Given the description of an element on the screen output the (x, y) to click on. 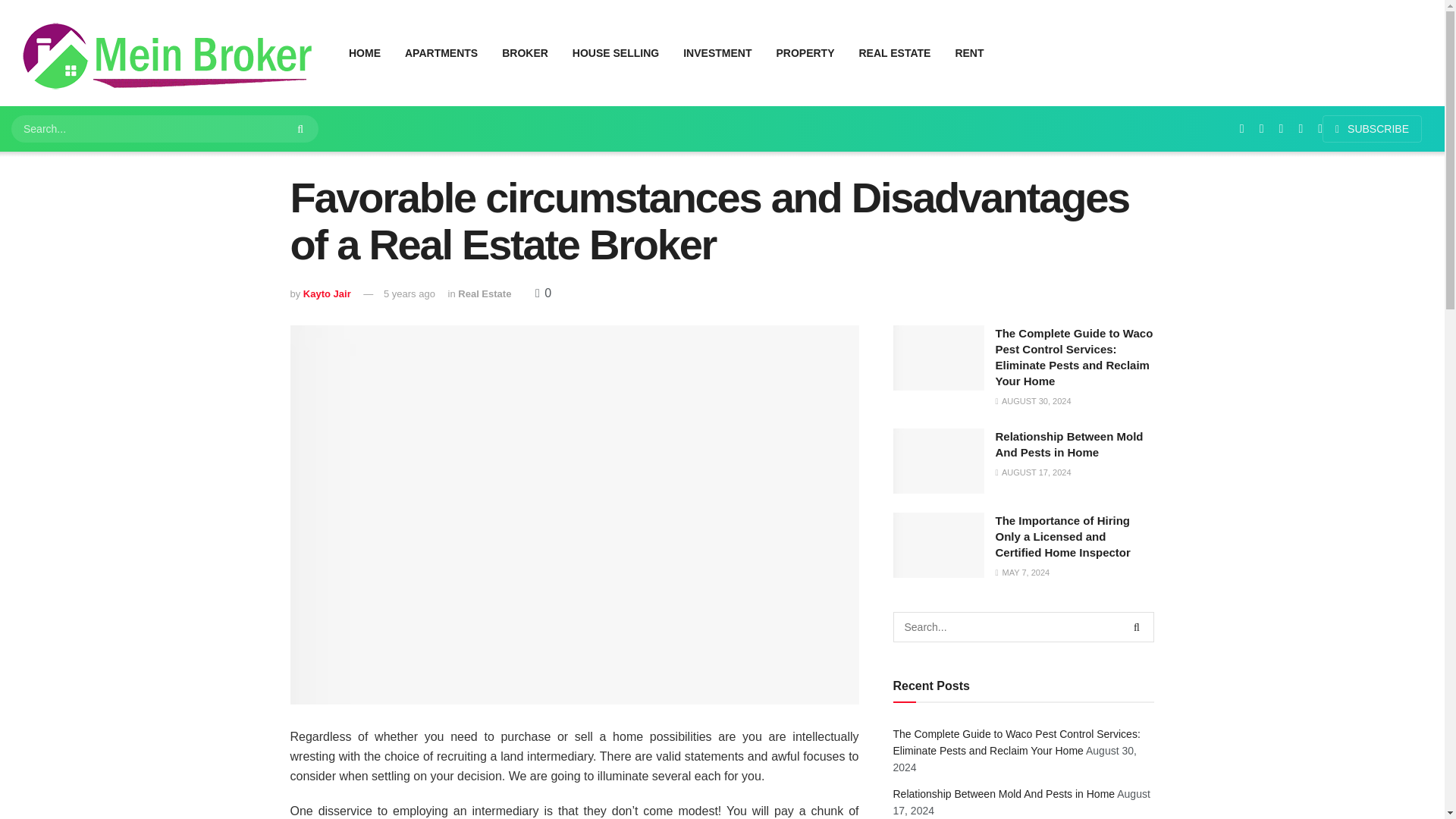
BROKER (524, 53)
APARTMENTS (441, 53)
RENT (968, 53)
5 years ago (409, 293)
Real Estate (484, 293)
0 (543, 292)
HOME (364, 53)
SUBSCRIBE (1372, 128)
Kayto Jair (326, 293)
HOUSE SELLING (615, 53)
